Given the description of an element on the screen output the (x, y) to click on. 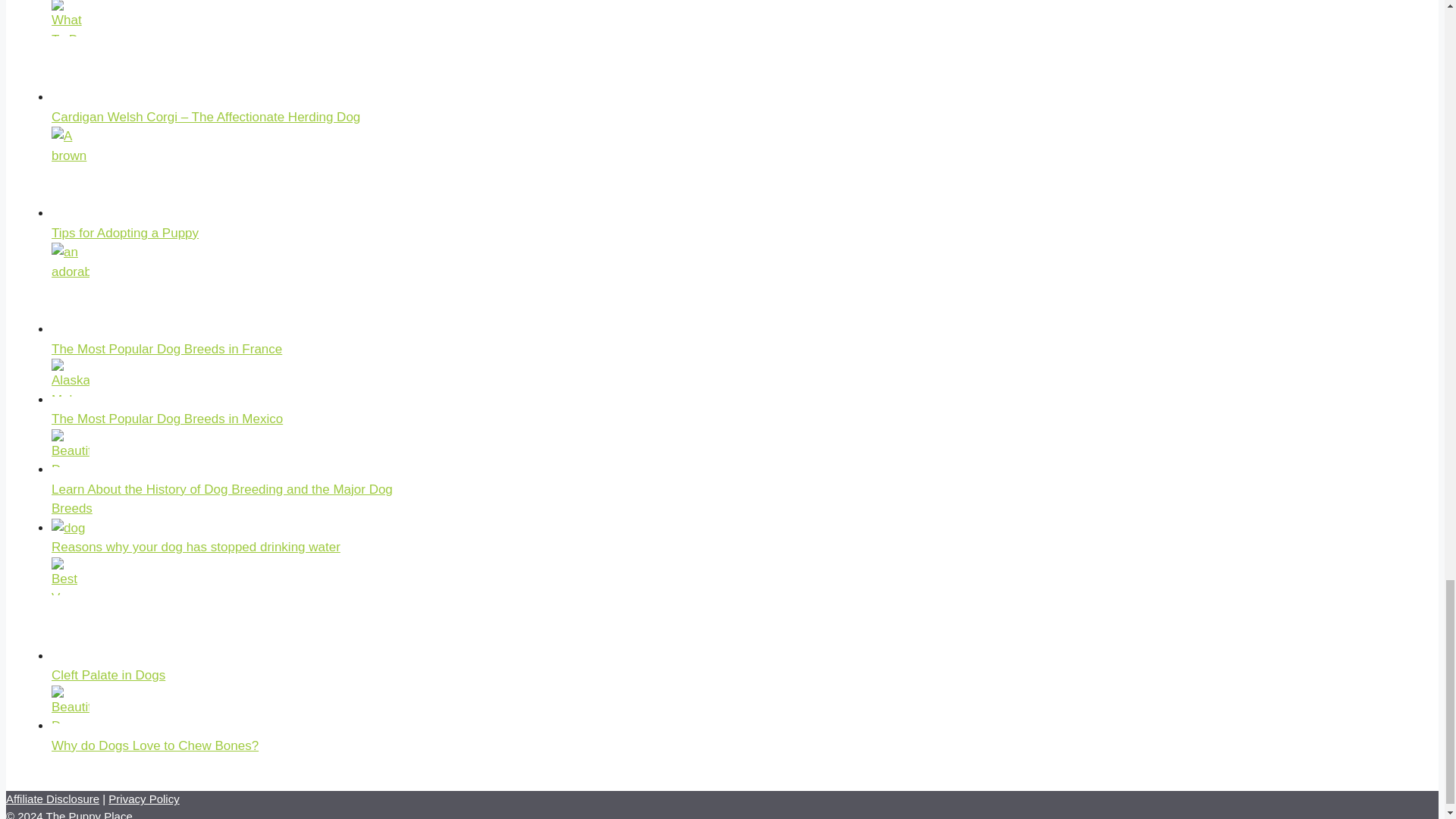
The Most Popular Dog Breeds in France (166, 349)
Cleft Palate in Dogs (107, 675)
Affiliate Disclosure (52, 798)
Reasons why your dog has stopped drinking water (195, 546)
Tips for Adopting a Puppy (124, 233)
Why do Dogs Love to Chew Bones? (154, 745)
The Most Popular Dog Breeds in Mexico (166, 418)
